Given the description of an element on the screen output the (x, y) to click on. 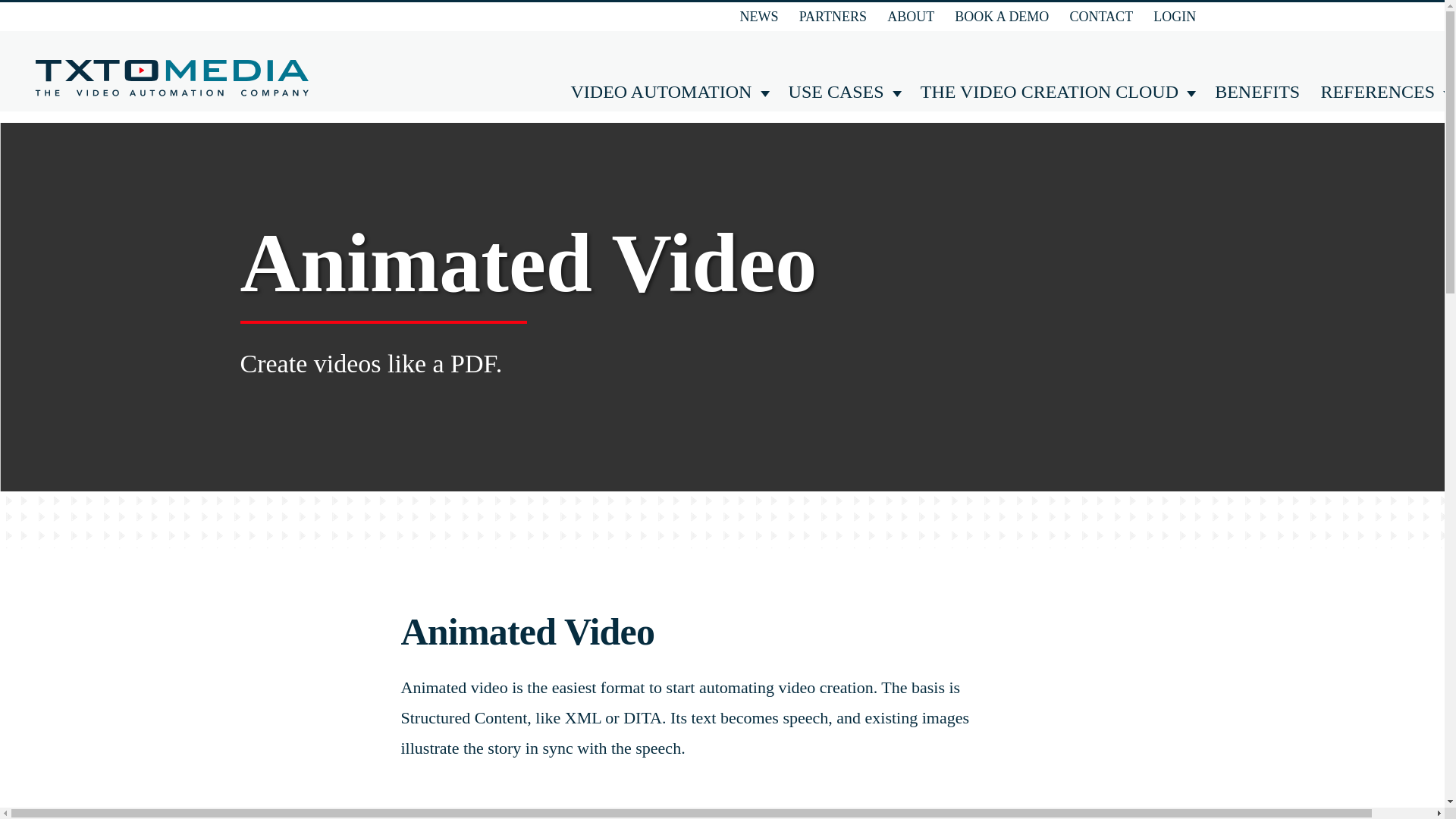
BENEFITS (1254, 91)
THE VIDEO CREATION CLOUD (1047, 91)
USE CASES (834, 91)
VIDEO AUTOMATION (659, 91)
BOOK A DEMO (1000, 17)
NEWS (756, 17)
PARTNERS (831, 17)
LOGIN (1172, 17)
ABOUT (908, 17)
REFERENCES (1375, 91)
CONTACT (1099, 17)
